Given the description of an element on the screen output the (x, y) to click on. 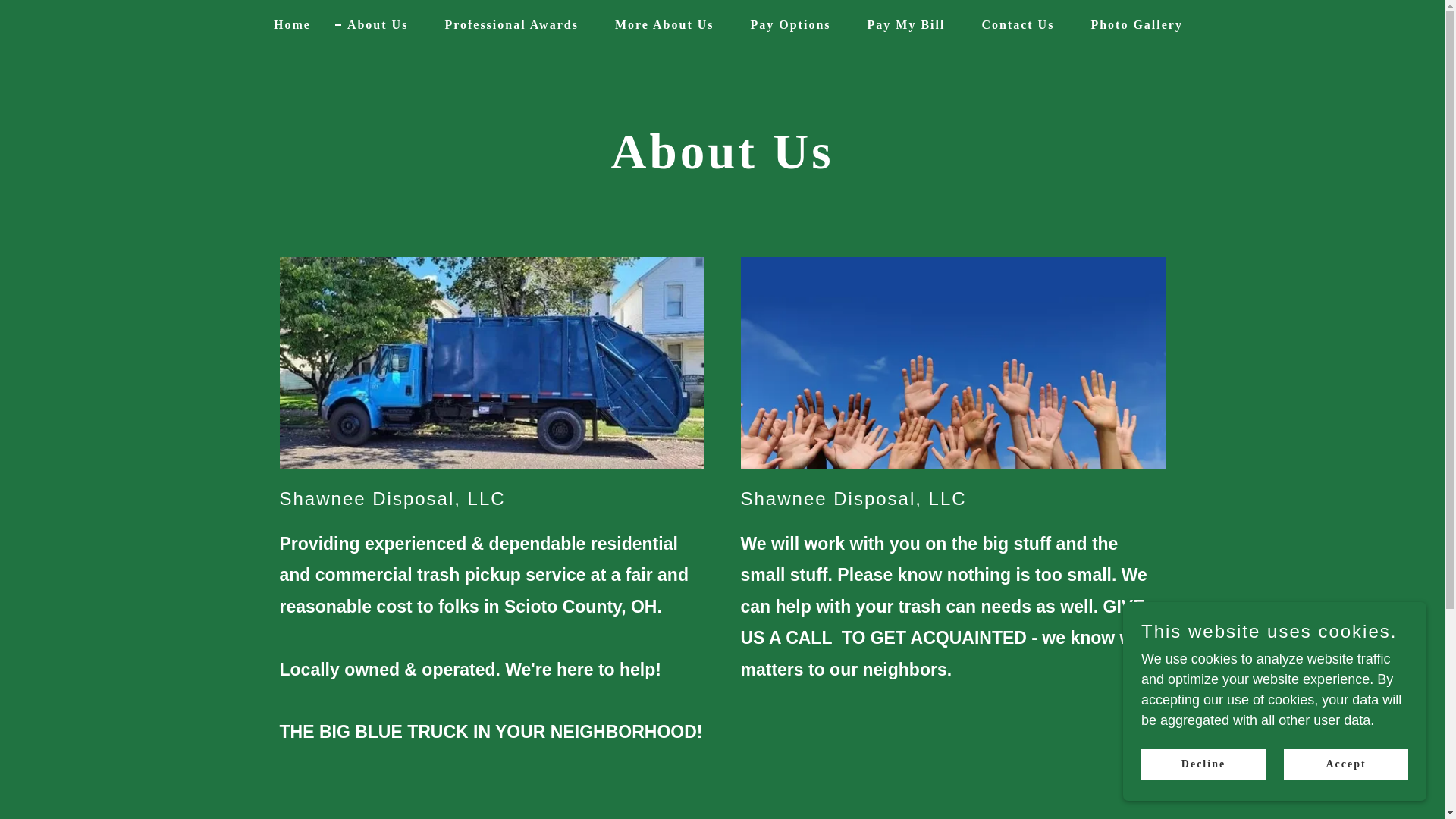
Decline (1203, 764)
Professional Awards (505, 24)
Pay My Bill (900, 24)
Contact Us (1010, 24)
Home (286, 24)
Photo Gallery (1131, 24)
About Us (370, 24)
Pay Options (784, 24)
More About Us (658, 24)
Accept (1345, 764)
